Given the description of an element on the screen output the (x, y) to click on. 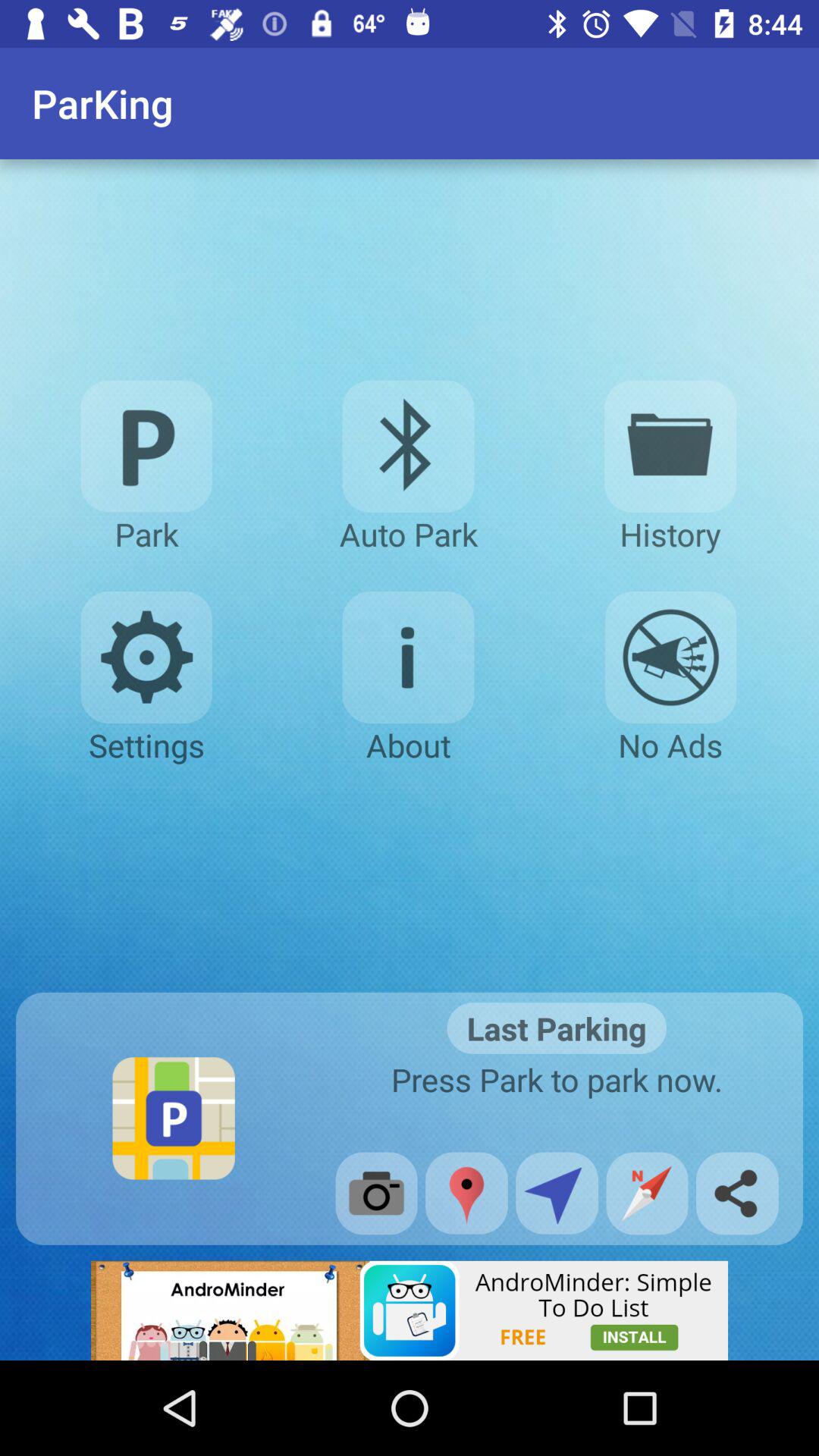
current location (466, 1193)
